Given the description of an element on the screen output the (x, y) to click on. 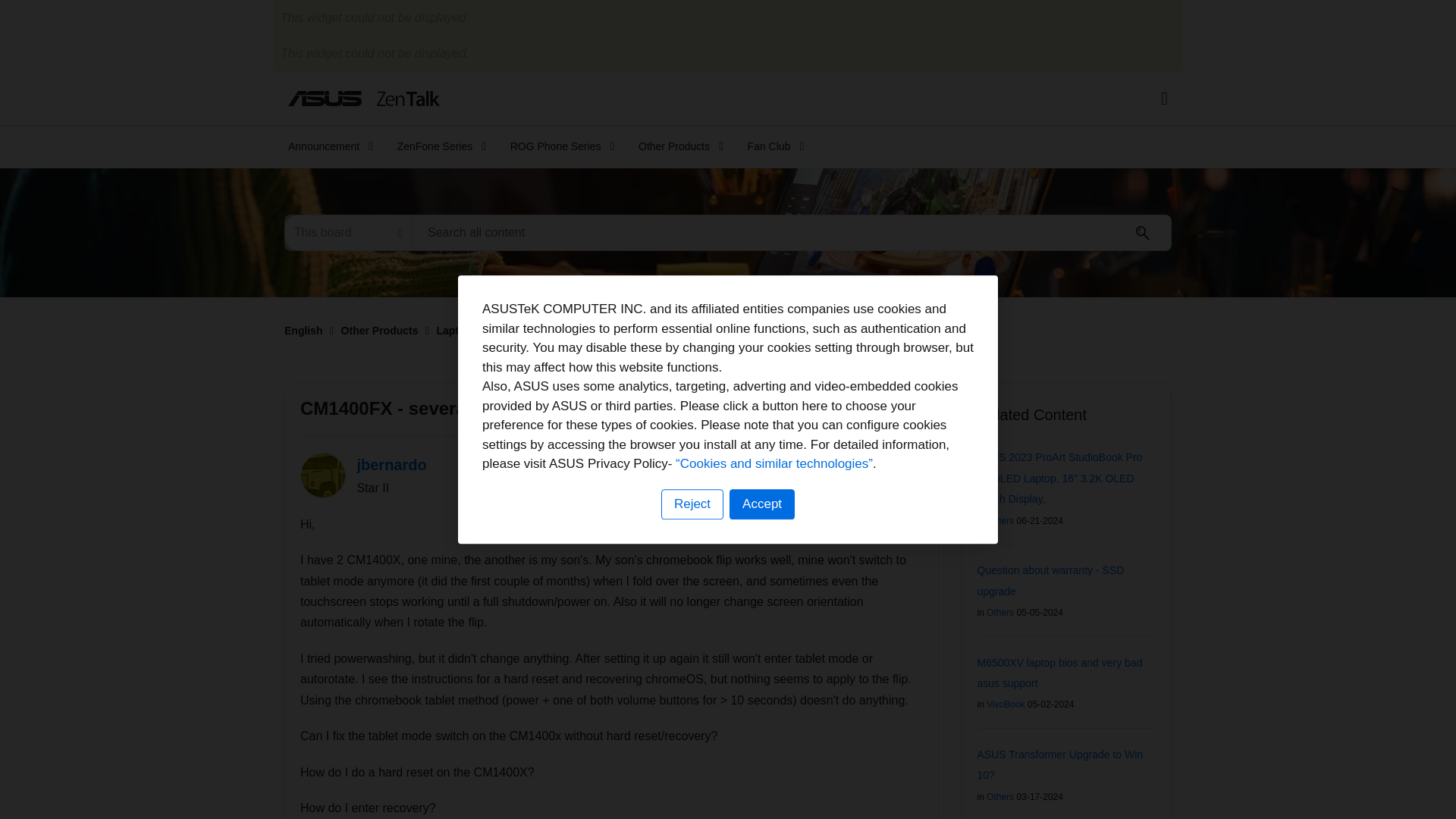
Search (1142, 232)
Other Products (676, 146)
Search (792, 232)
Announcement (325, 146)
jbernardo (322, 474)
Search (1142, 232)
Search Granularity (347, 232)
ASUS - ZenTalk (363, 97)
ROG Phone Series (557, 146)
ZenFone Series (436, 146)
